Given the description of an element on the screen output the (x, y) to click on. 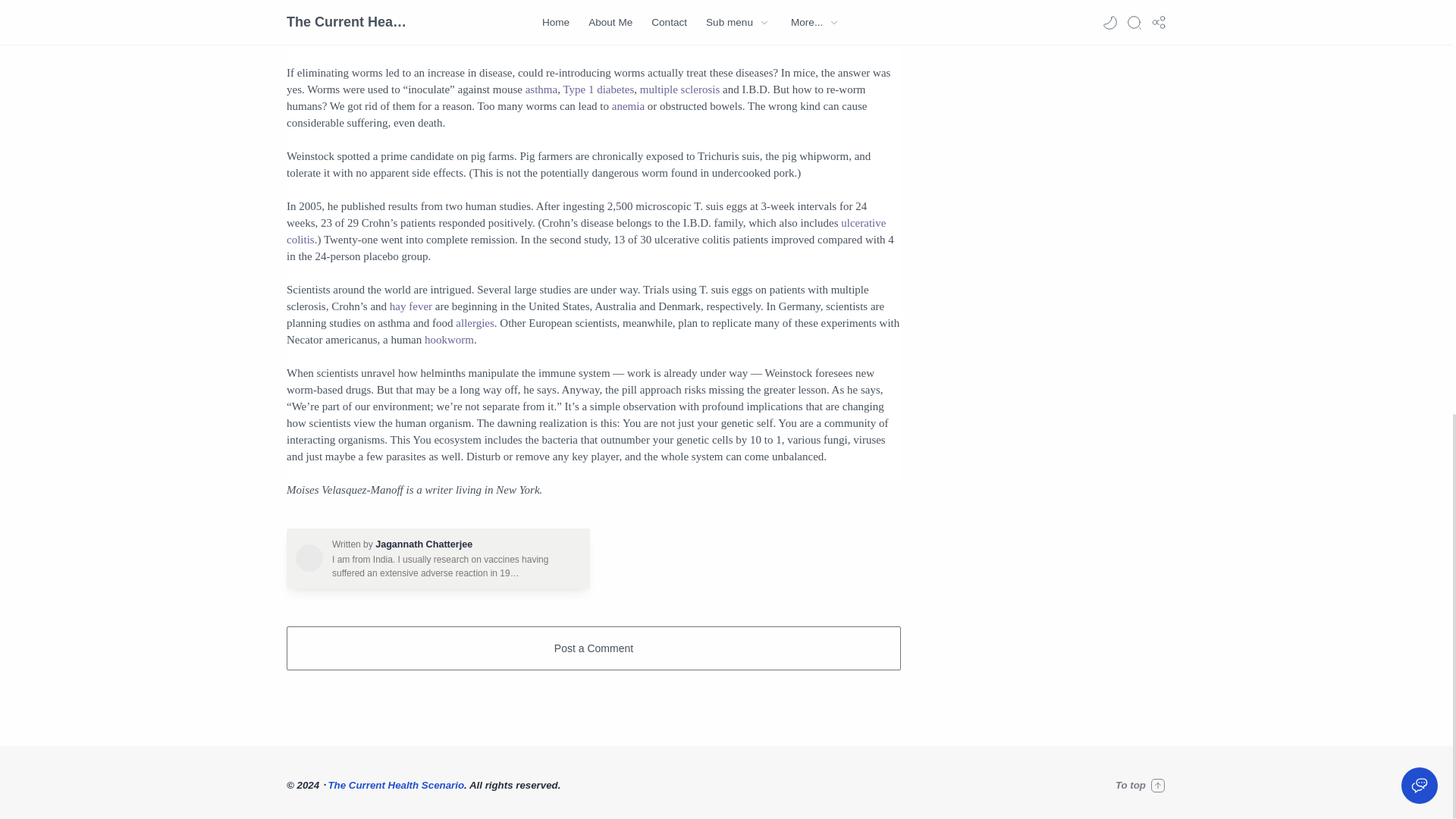
In-depth reference and news articles about Hookworm. (449, 339)
In-depth reference and news articles about Anemia. (628, 105)
In-depth reference and news articles about Immune response. (521, 22)
In-depth reference and news articles about Asthma. (541, 89)
In-depth reference and news articles about Type 1 diabetes. (597, 89)
In-depth reference and news articles about Allergies. (475, 322)
